Given the description of an element on the screen output the (x, y) to click on. 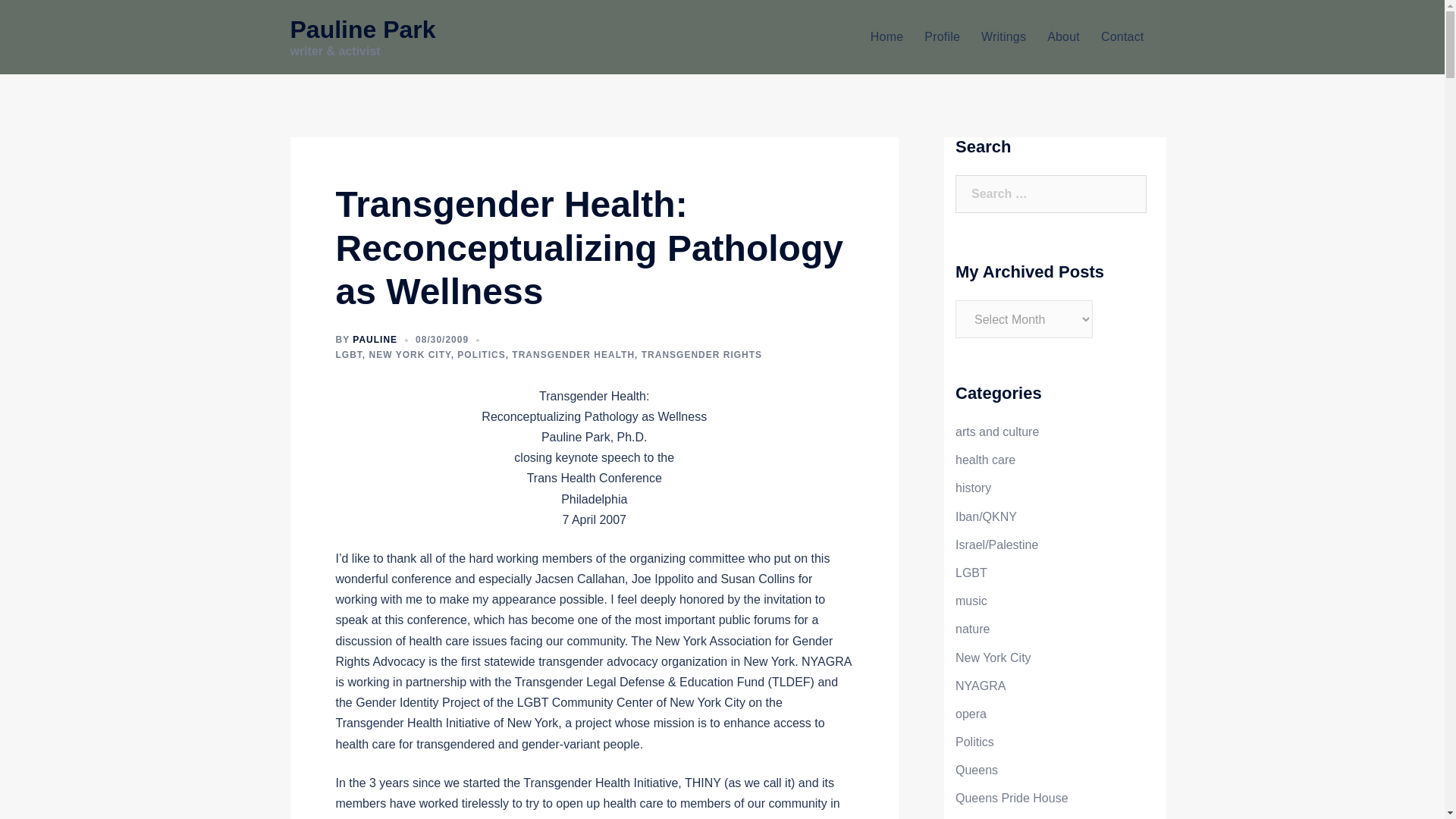
Contact (1122, 36)
LGBT (347, 354)
LGBT (971, 572)
Search (47, 18)
About (1063, 36)
POLITICS (481, 354)
NEW YORK CITY (410, 354)
Home (886, 36)
Writings (1003, 36)
Pauline Park (362, 29)
